Given the description of an element on the screen output the (x, y) to click on. 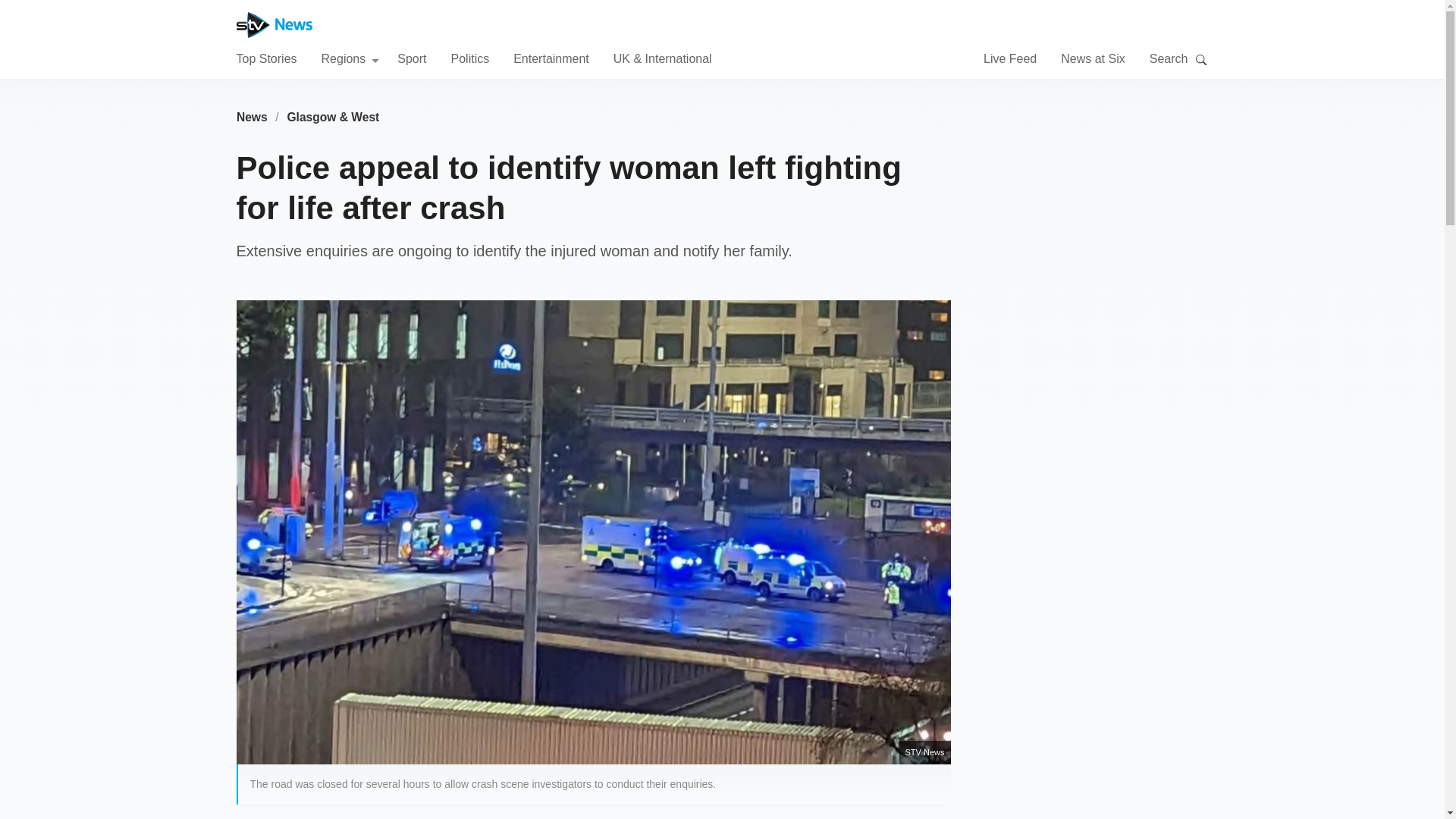
Top Stories (266, 57)
Entertainment (551, 57)
Politics (469, 57)
Live Feed (1010, 57)
Regions (350, 57)
News at Six (1092, 57)
News (252, 116)
Search (1201, 59)
